Given the description of an element on the screen output the (x, y) to click on. 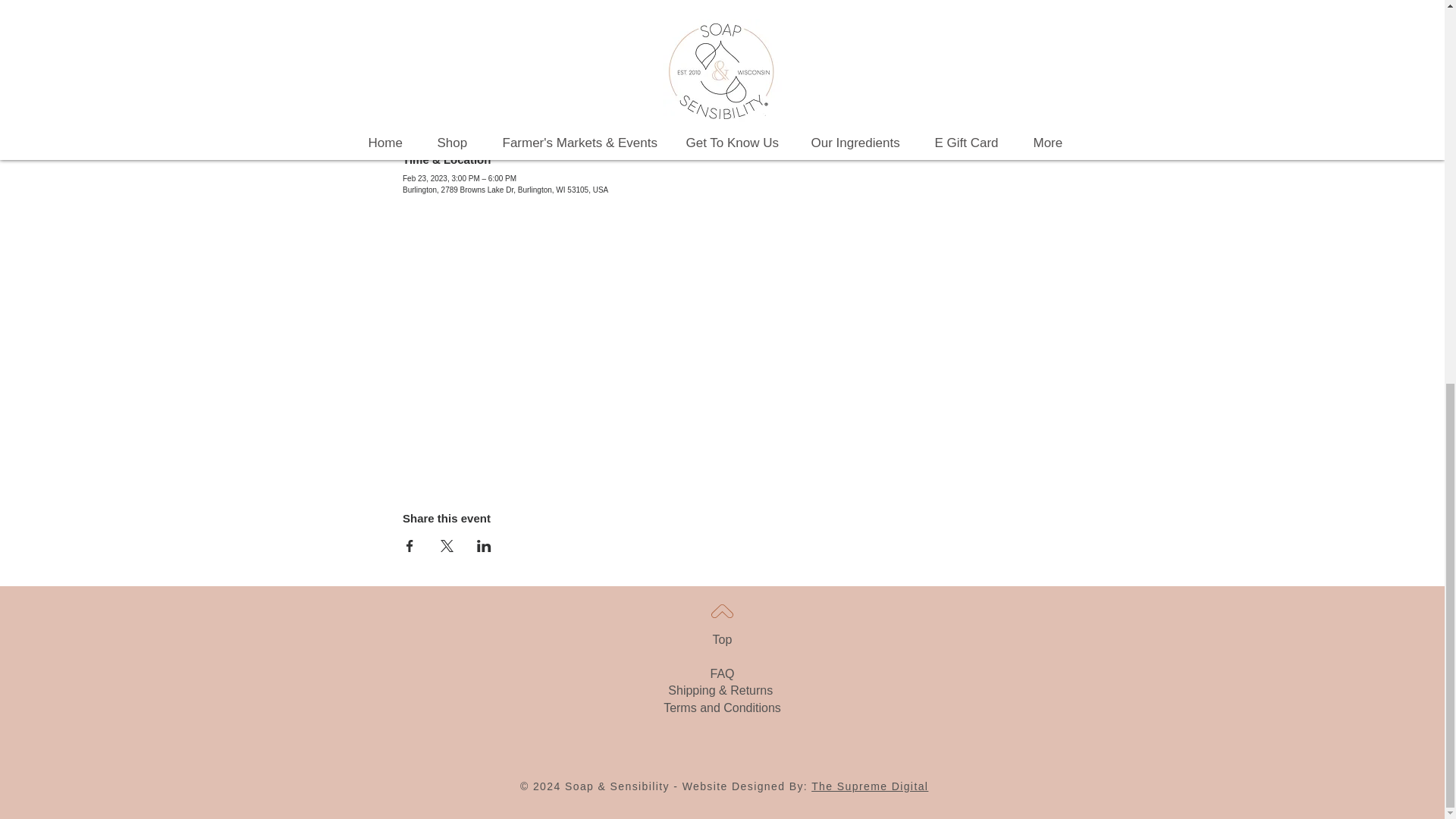
Terms and Conditions (721, 707)
The Supreme Digital (869, 786)
FAQ (721, 673)
Top (722, 639)
